Given the description of an element on the screen output the (x, y) to click on. 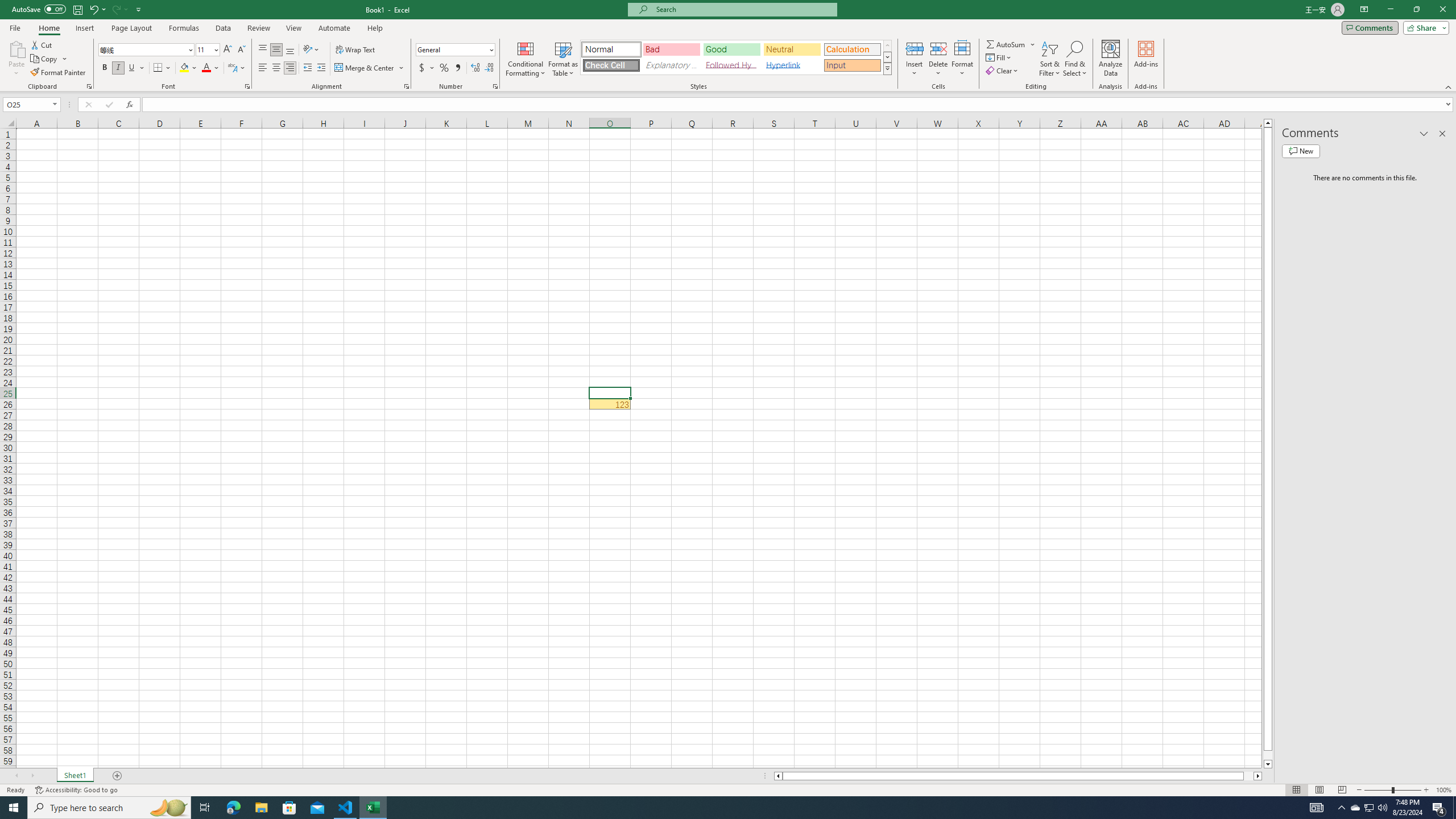
Show Phonetic Field (236, 67)
Clear (1003, 69)
Row up (887, 45)
Borders (162, 67)
Merge & Center (365, 67)
Increase Font Size (227, 49)
Show Phonetic Field (231, 67)
Font Size (207, 49)
Task Pane Options (1423, 133)
Font (142, 49)
